Given the description of an element on the screen output the (x, y) to click on. 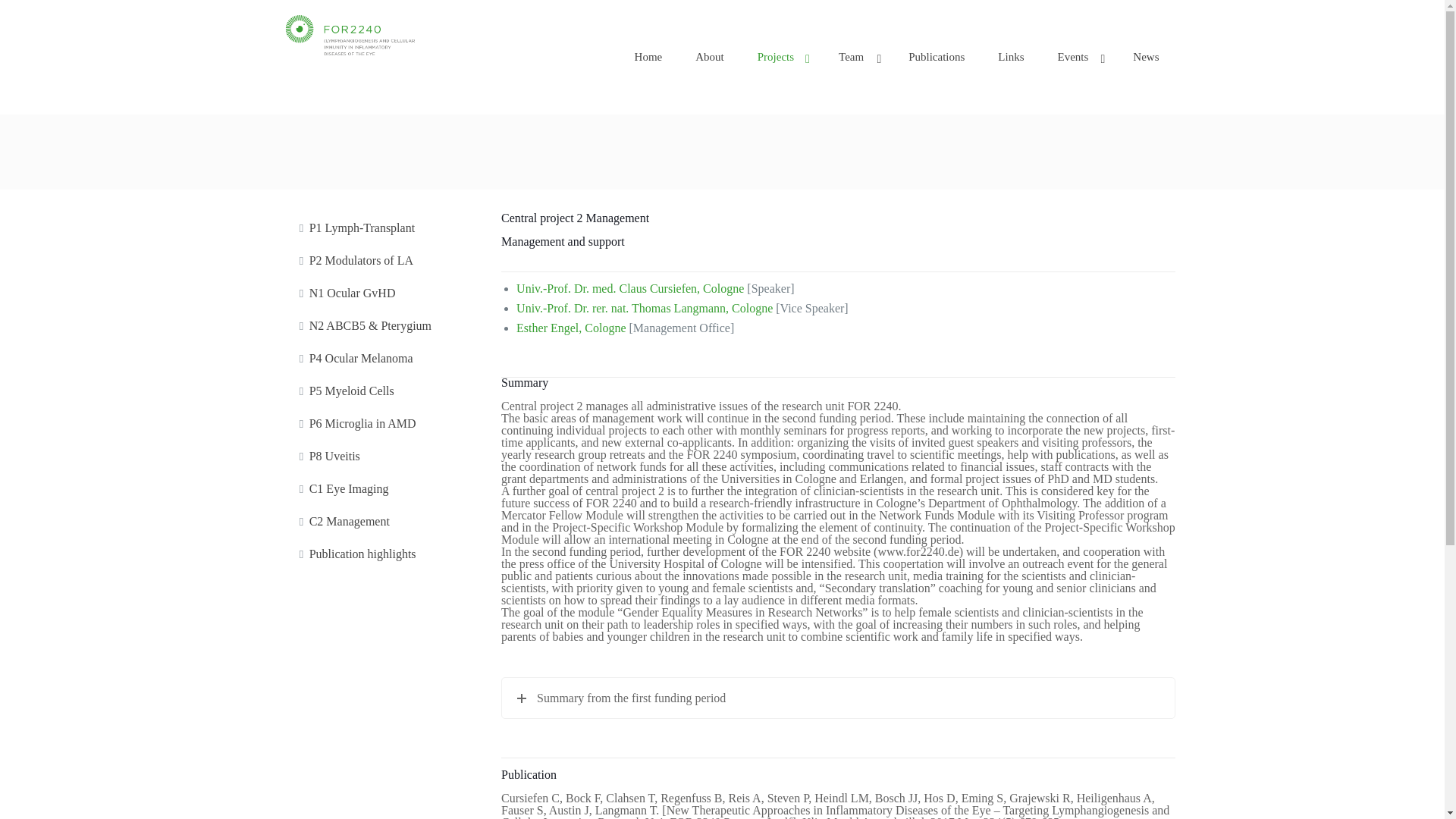
N1 Ocular GvHD (388, 293)
P5 Myeloid Cells (388, 391)
P6 Microglia in AMD (388, 423)
P4 Ocular Melanoma (388, 358)
P2 Modulators of LA (388, 260)
P8 Uveitis (388, 456)
FOR2240 (348, 33)
P1 Lymph-Transplant (388, 228)
